Given the description of an element on the screen output the (x, y) to click on. 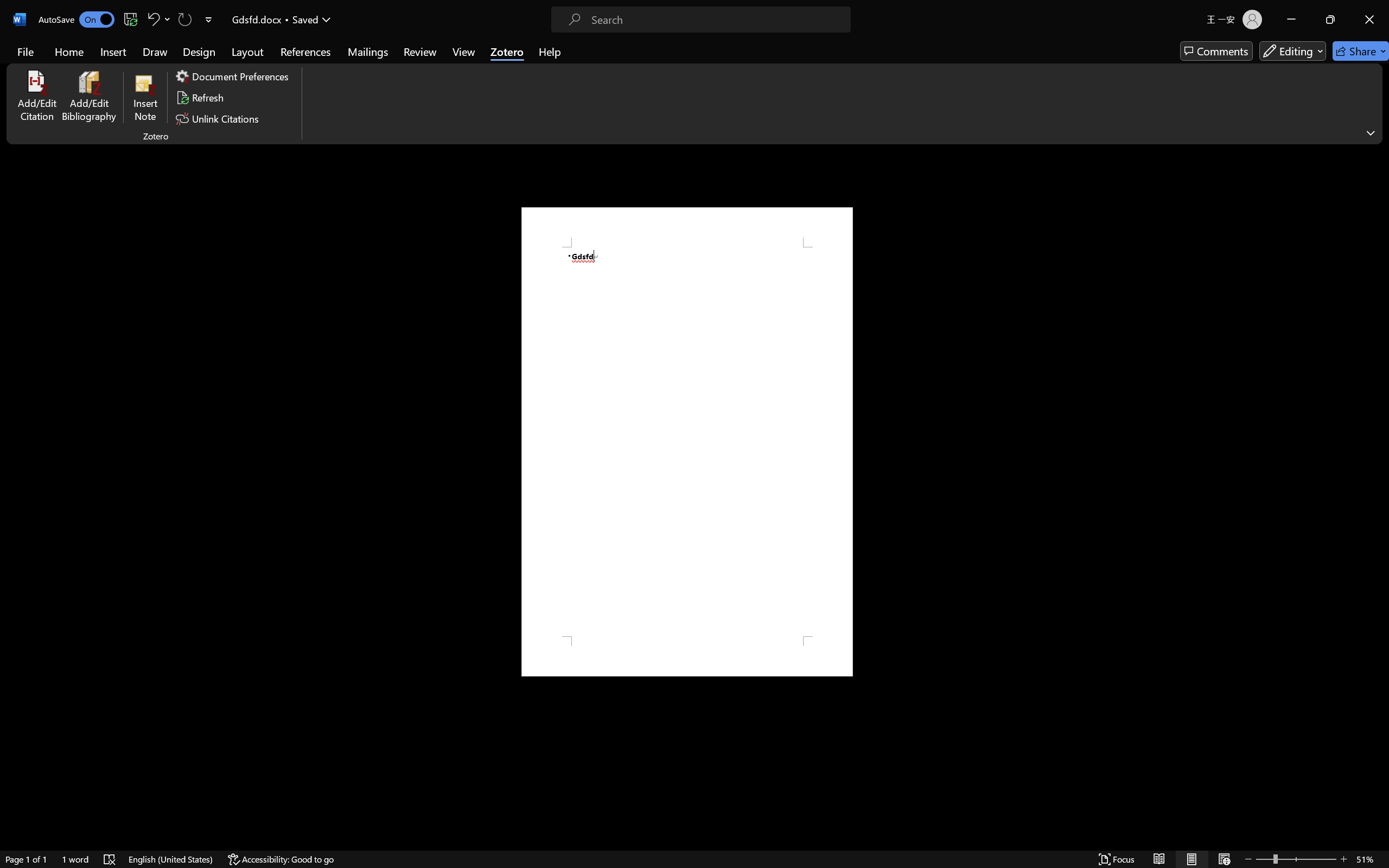
Page 1 content (686, 441)
